Given the description of an element on the screen output the (x, y) to click on. 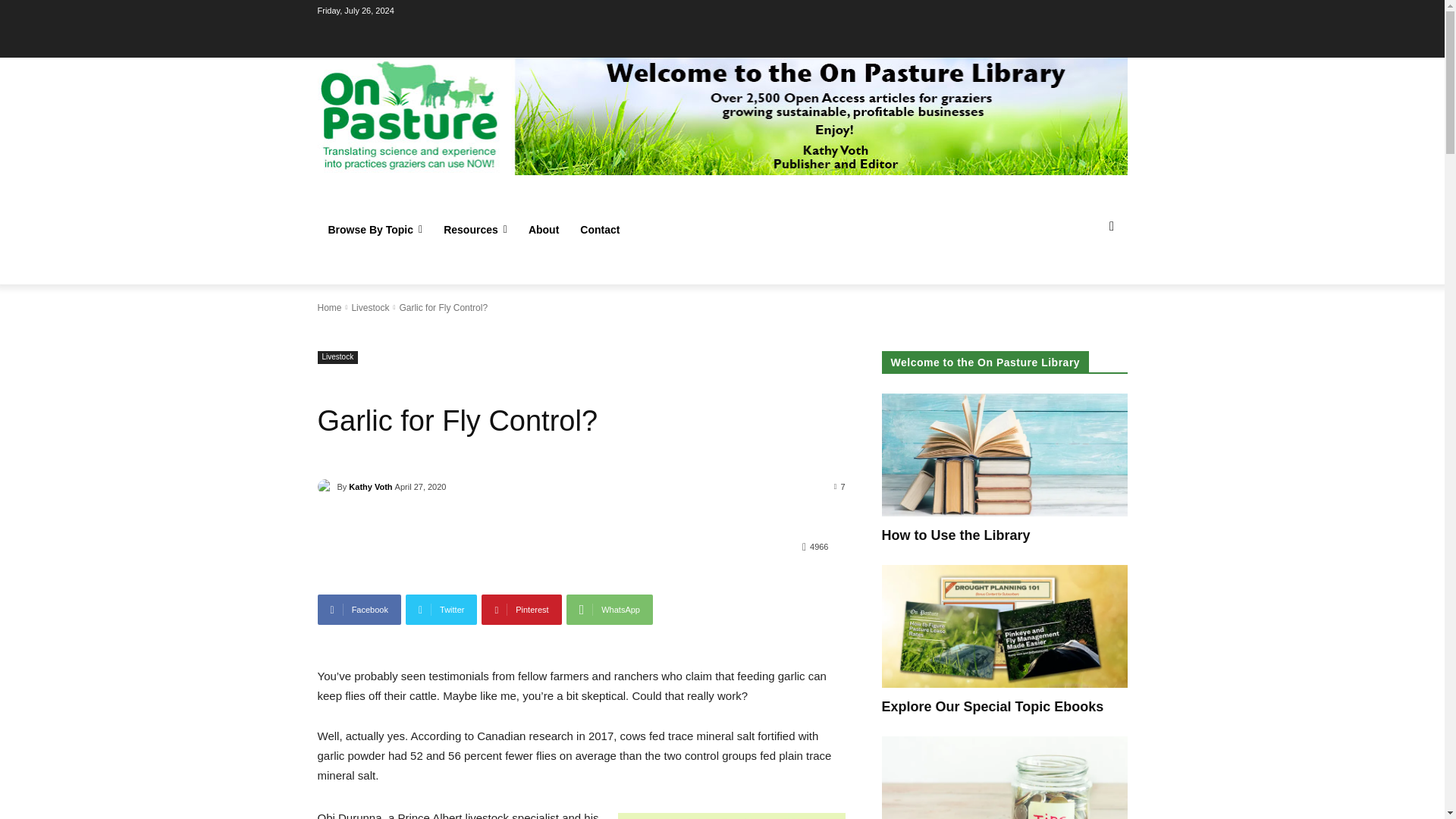
Pinterest (520, 609)
View all posts in Livestock (369, 307)
Kathy Voth (326, 486)
WhatsApp (609, 609)
Facebook (358, 609)
Twitter (441, 609)
